Given the description of an element on the screen output the (x, y) to click on. 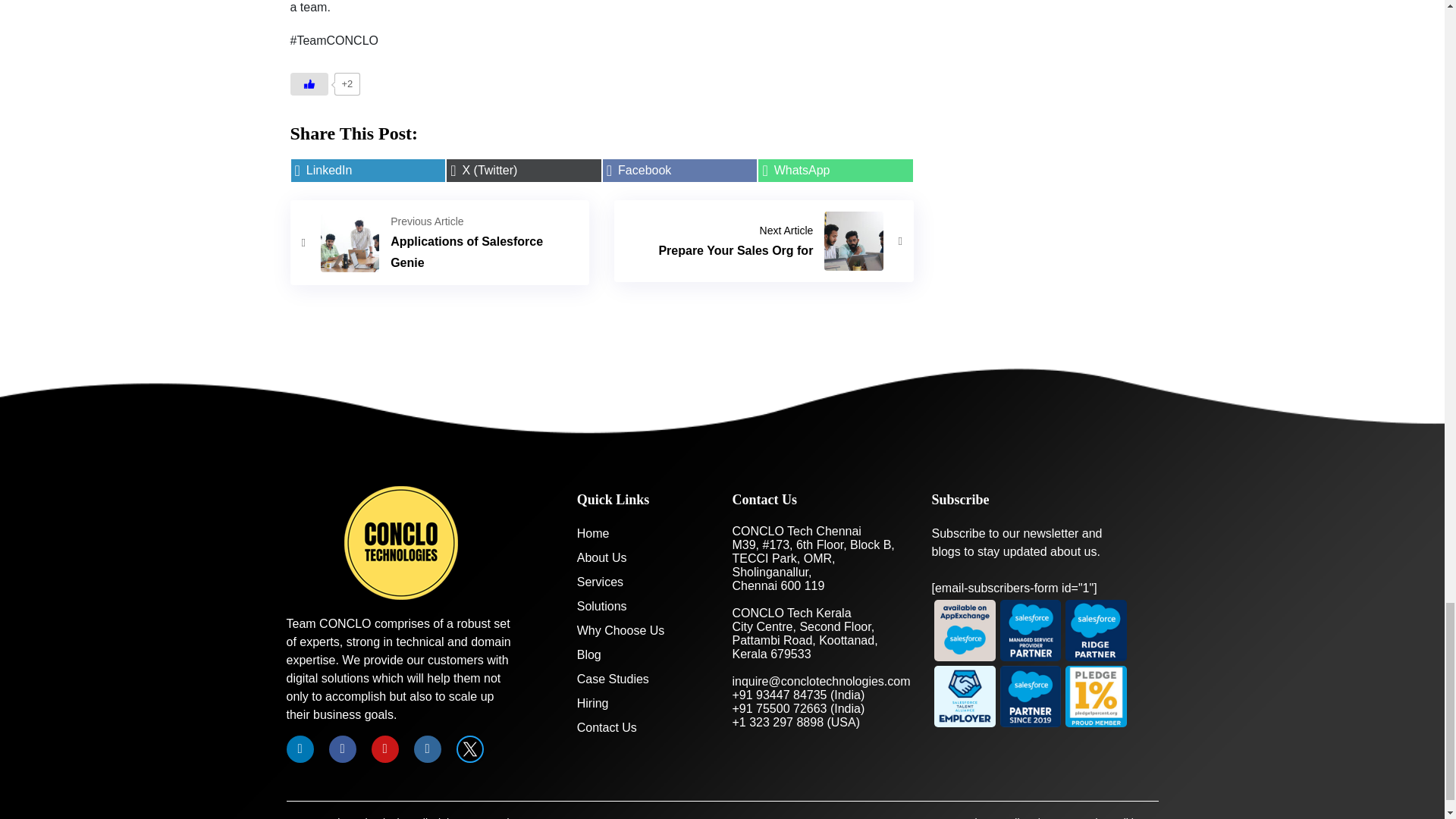
Applications of Salesforce Genie (439, 242)
Facebook (680, 170)
WhatsApp (835, 170)
LinkedIn (367, 170)
Prepare Your Sales Org for Recession (764, 240)
